Given the description of an element on the screen output the (x, y) to click on. 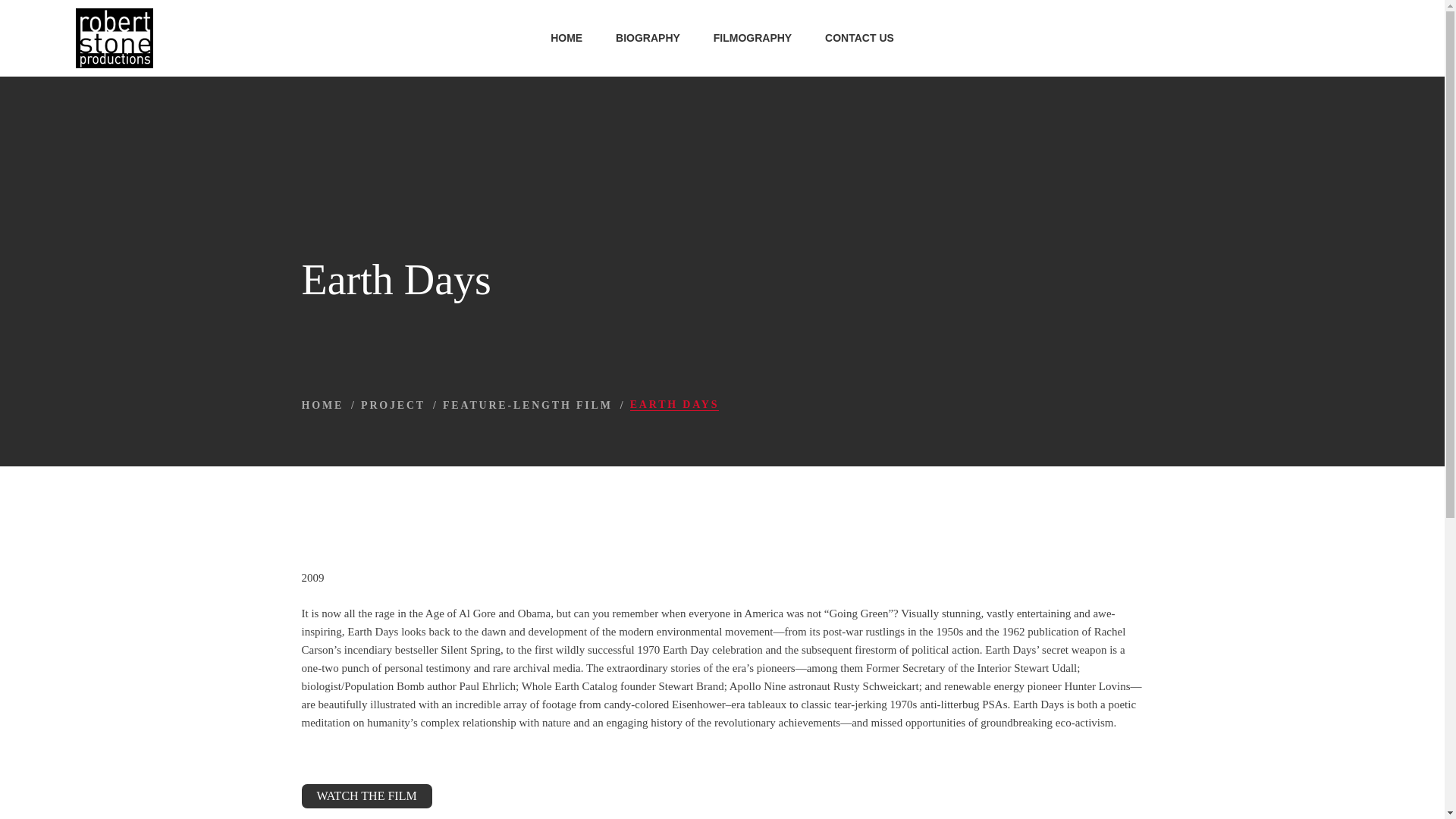
CONTACT US (858, 38)
BIOGRAPHY (647, 38)
FILMOGRAPHY (752, 38)
Robert Stone Productions (113, 37)
FEATURE-LENGTH FILM (527, 405)
HOME (322, 405)
WATCH THE FILM (366, 795)
PROJECT (393, 405)
